Given the description of an element on the screen output the (x, y) to click on. 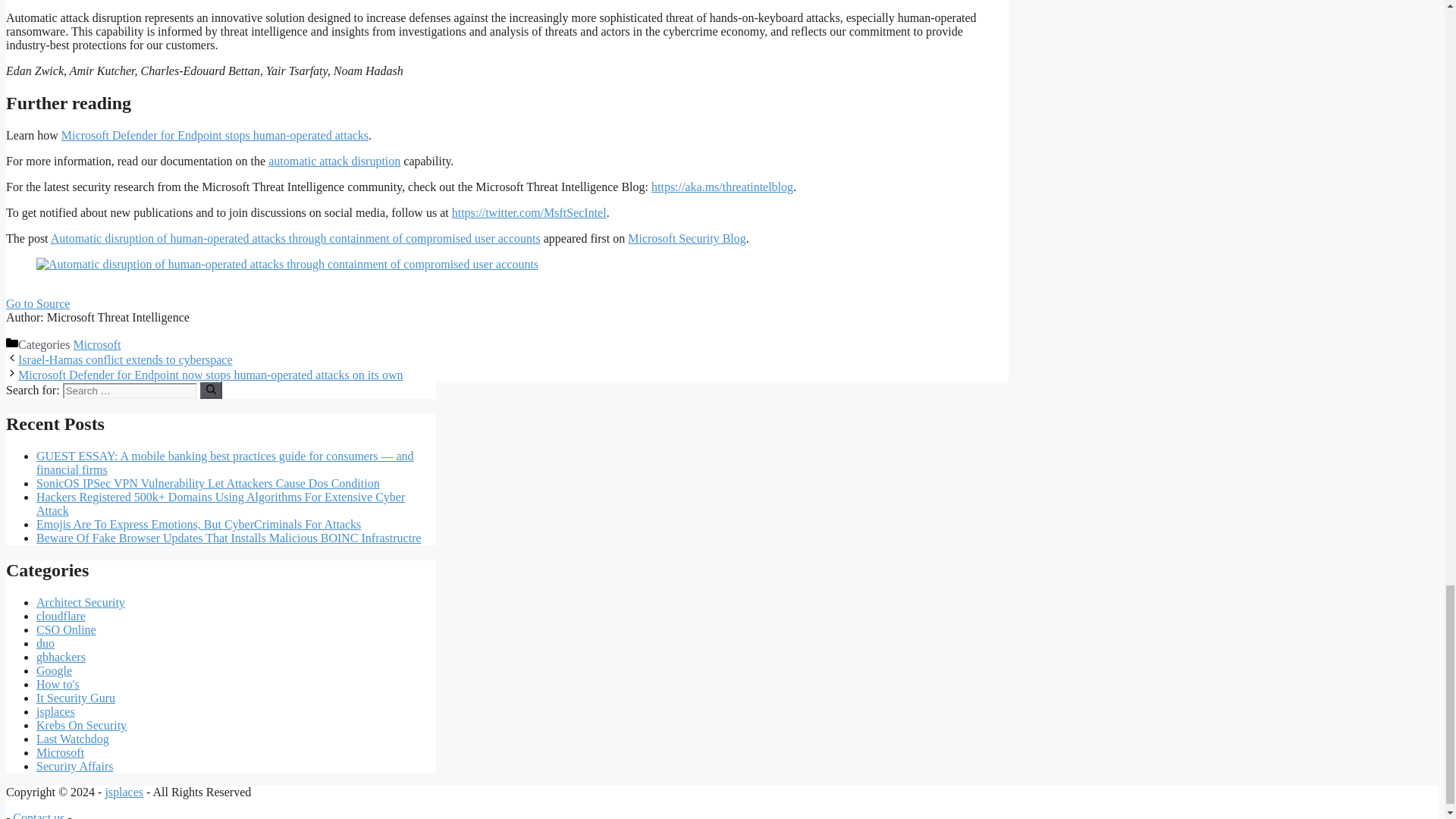
Go to Source (37, 303)
Israel-Hamas conflict extends to cyberspace (124, 359)
Search for: (129, 390)
automatic attack disruption (333, 160)
Architect Security (80, 602)
Google (53, 670)
gbhackers (60, 656)
Microsoft Defender for Endpoint stops human-operated attacks (214, 134)
Microsoft Security Blog (686, 237)
cloudflare (60, 615)
Microsoft (96, 344)
